Given the description of an element on the screen output the (x, y) to click on. 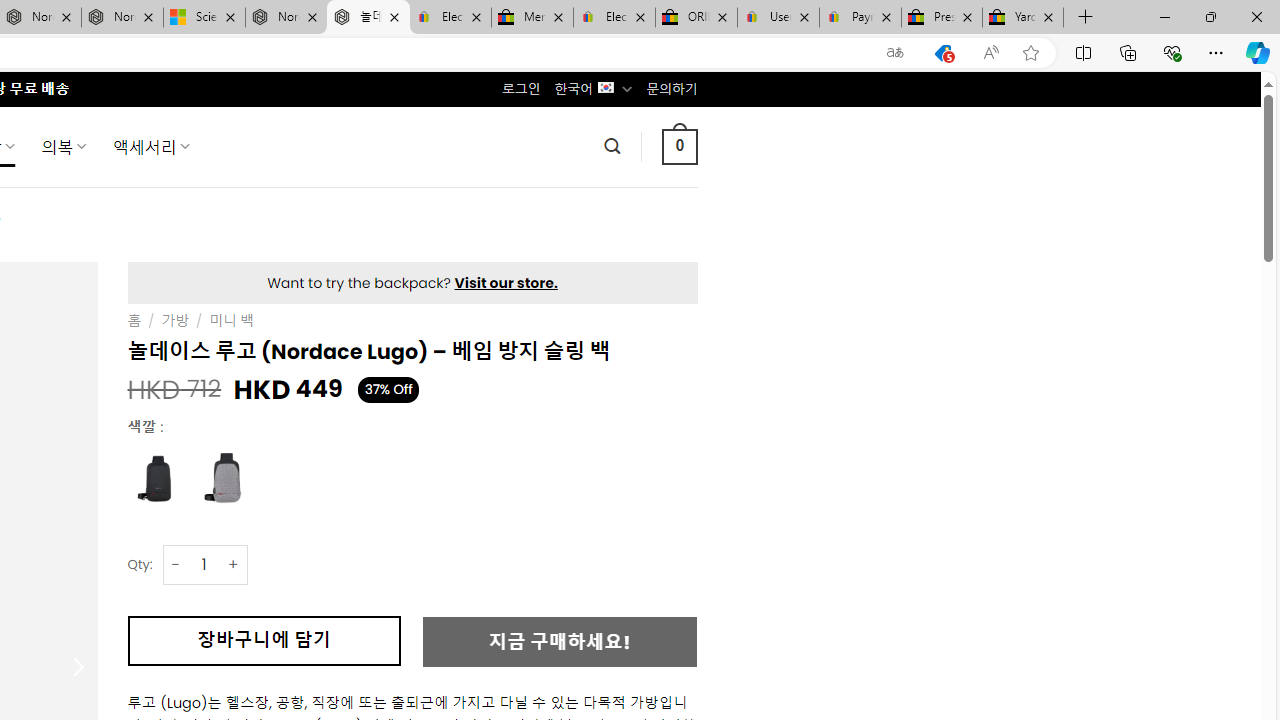
Nordace - Summer Adventures 2024 (285, 17)
Visit our store. (506, 282)
Press Room - eBay Inc. (941, 17)
+ (234, 564)
